Given the description of an element on the screen output the (x, y) to click on. 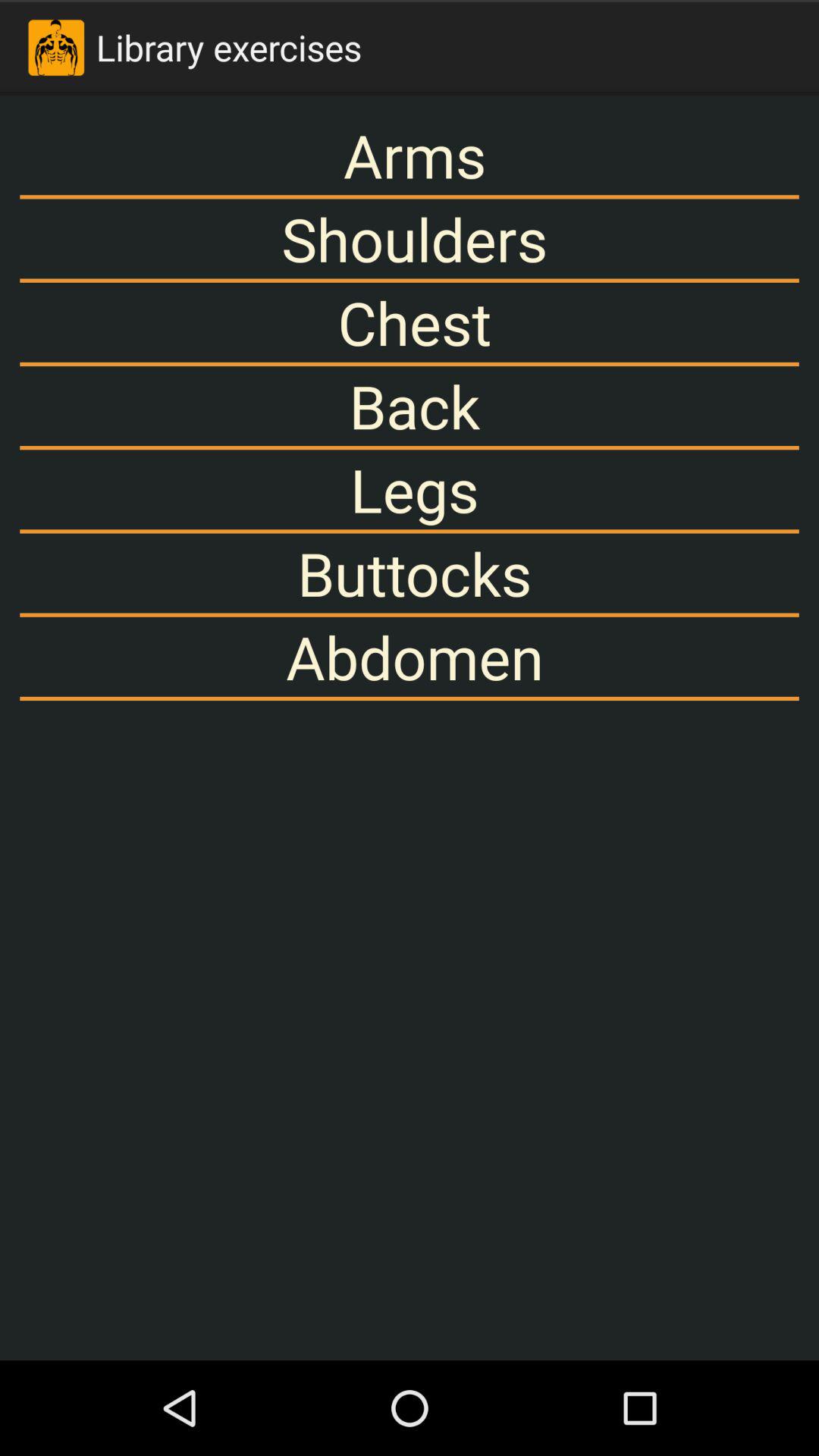
turn off the item below the back (409, 489)
